Given the description of an element on the screen output the (x, y) to click on. 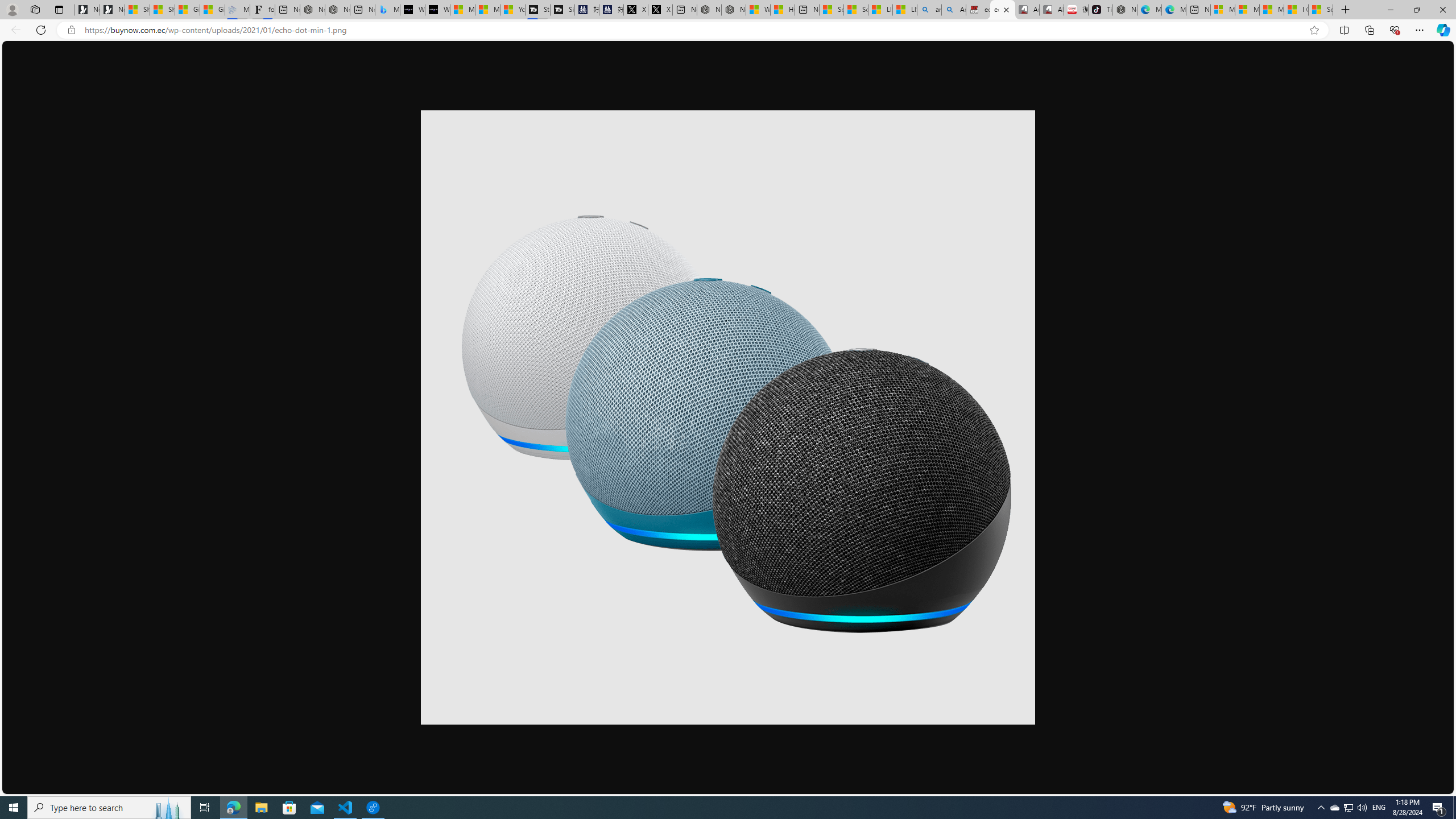
Gilma and Hector both pose tropical trouble for Hawaii (212, 9)
Microsoft account | Privacy (1246, 9)
Huge shark washes ashore at New York City beach | Watch (782, 9)
